Given the description of an element on the screen output the (x, y) to click on. 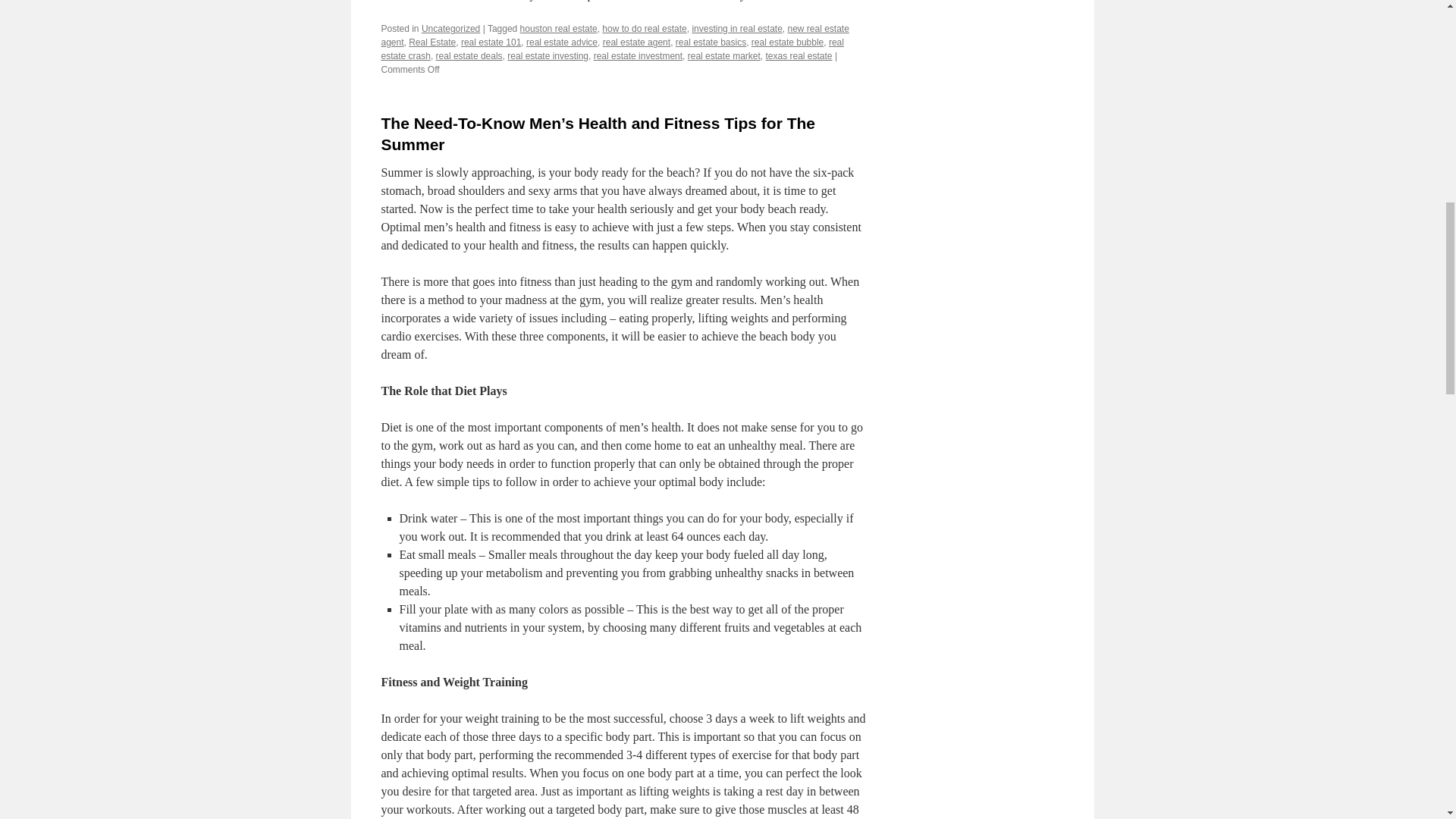
real estate advice (560, 41)
View all posts in Uncategorized (451, 28)
real estate bubble (787, 41)
new real estate agent (614, 35)
real estate deals (468, 55)
texas real estate (798, 55)
investing in real estate (736, 28)
how to do real estate (643, 28)
real estate agent (635, 41)
Uncategorized (451, 28)
